Given the description of an element on the screen output the (x, y) to click on. 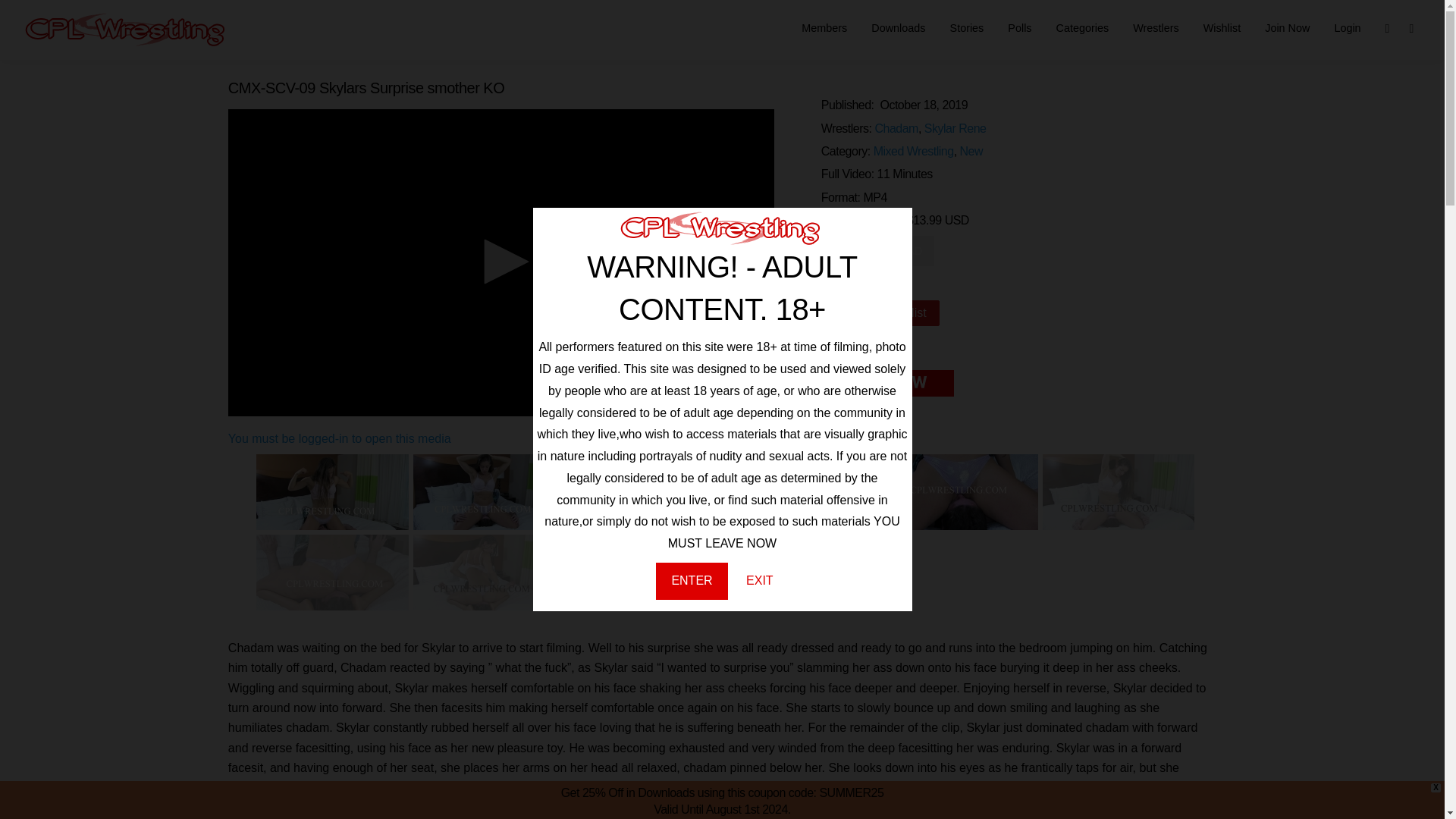
Add to Wishlist (880, 312)
Categories (1082, 28)
Wishlist (1222, 28)
Join Now (1287, 28)
New (971, 151)
Skylar Rene (955, 128)
Stories (966, 28)
Cart (1397, 27)
Members (824, 28)
Search (1421, 27)
ENTER (691, 580)
Mixed Wrestling (913, 151)
BUY DOWNLOAD (877, 250)
Login (1347, 28)
You must be logged-in to open this media (339, 438)
